Given the description of an element on the screen output the (x, y) to click on. 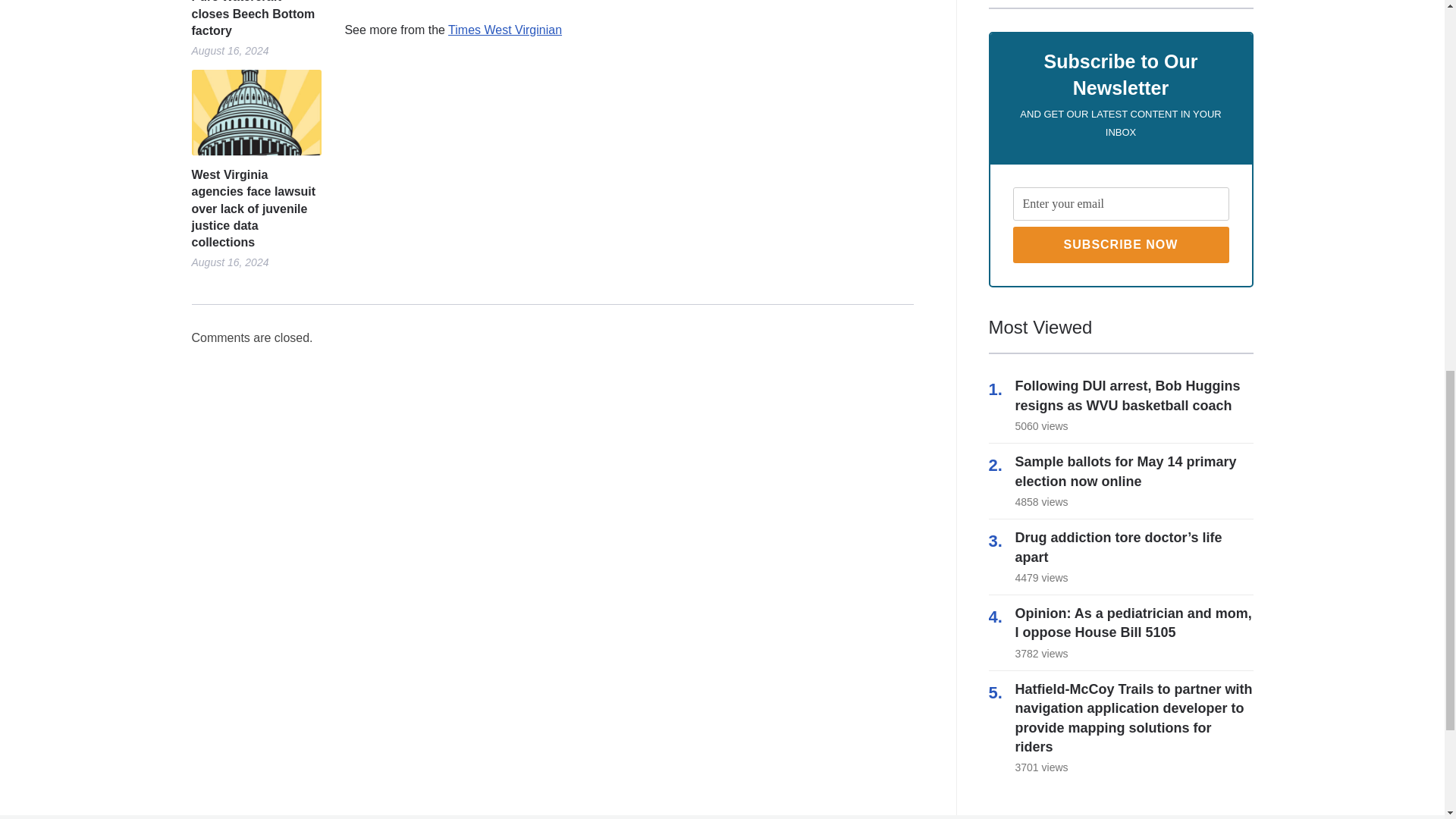
Permalink to Pure Watercraft closes Beech Bottom factory (255, 19)
Subscribe Now (1120, 244)
